Given the description of an element on the screen output the (x, y) to click on. 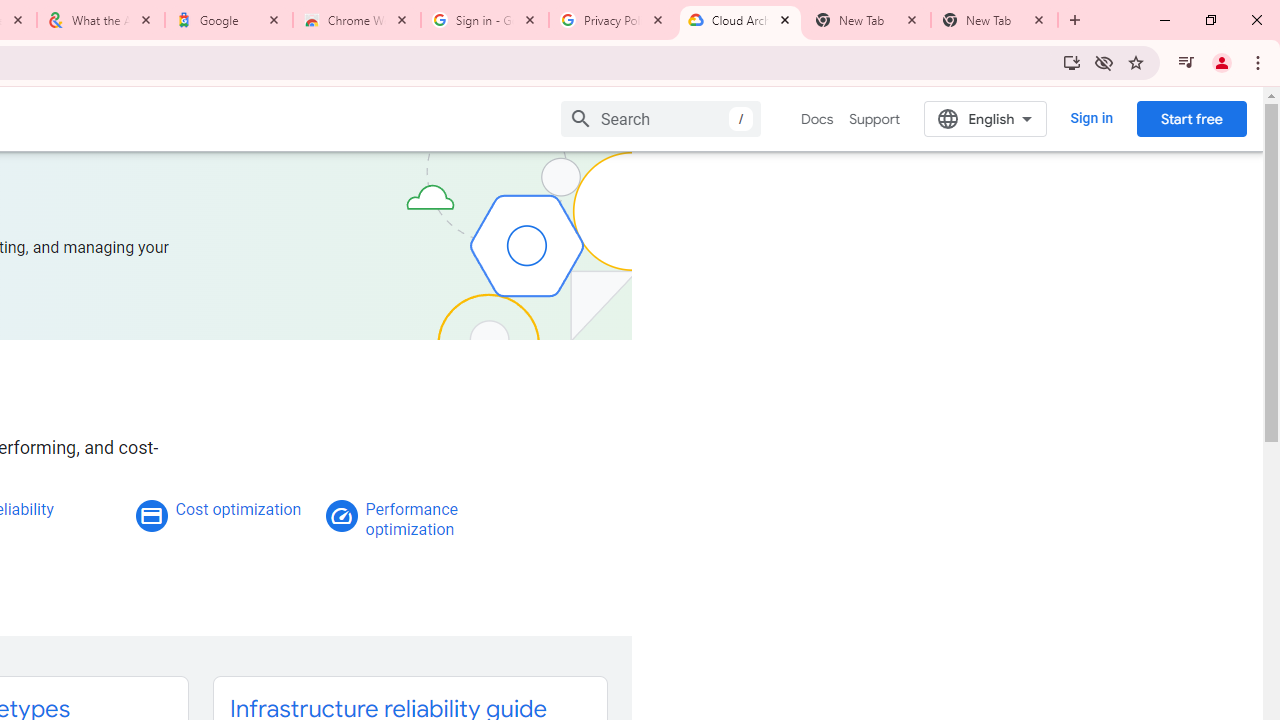
Start free (1191, 118)
English (985, 118)
Chrome Web Store - Color themes by Chrome (357, 20)
New Tab (994, 20)
